Given the description of an element on the screen output the (x, y) to click on. 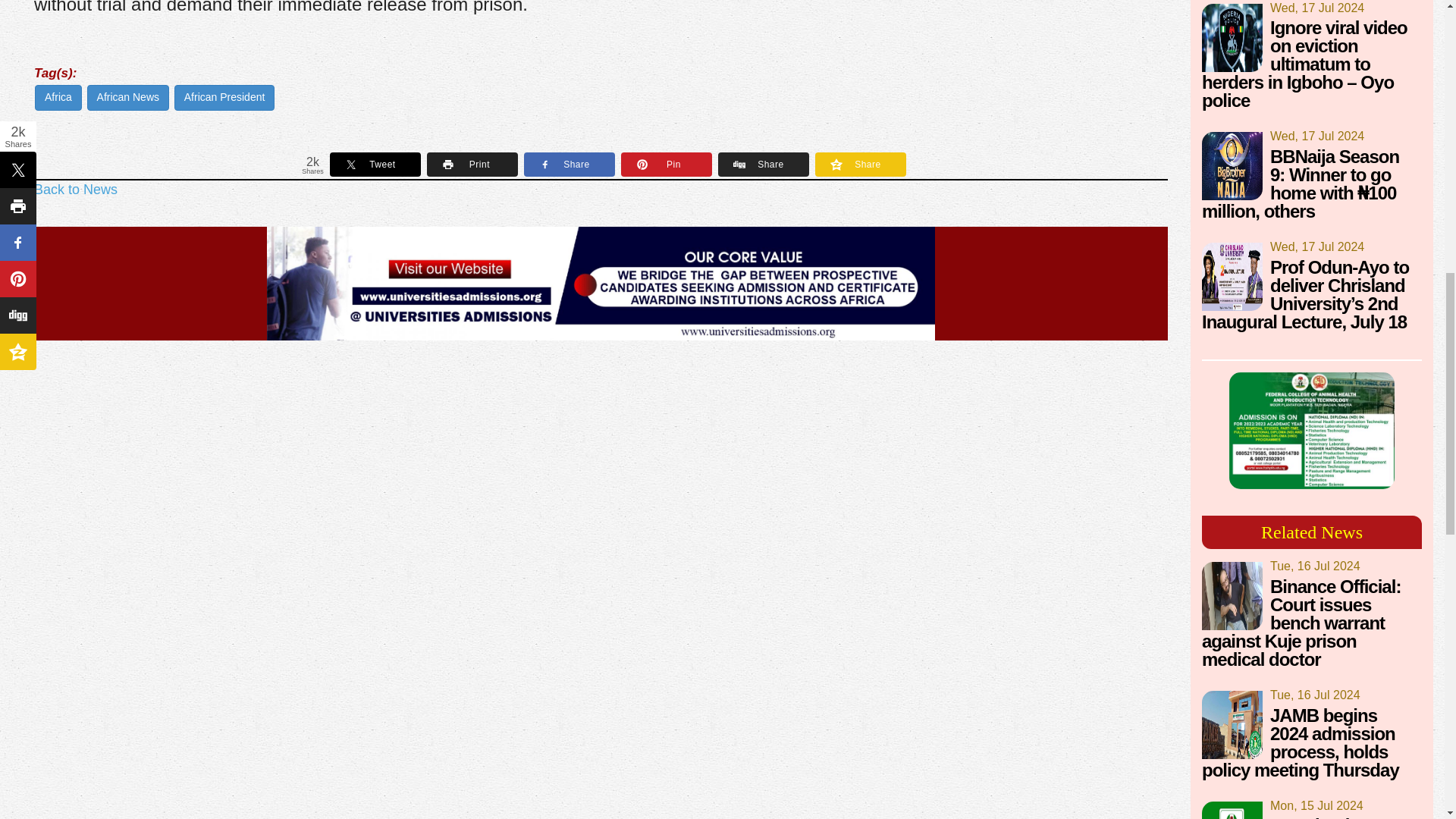
African President (224, 97)
Africa (57, 97)
African News (127, 97)
African President (224, 97)
Back to News (75, 189)
Africa (57, 97)
African News (127, 97)
